Given the description of an element on the screen output the (x, y) to click on. 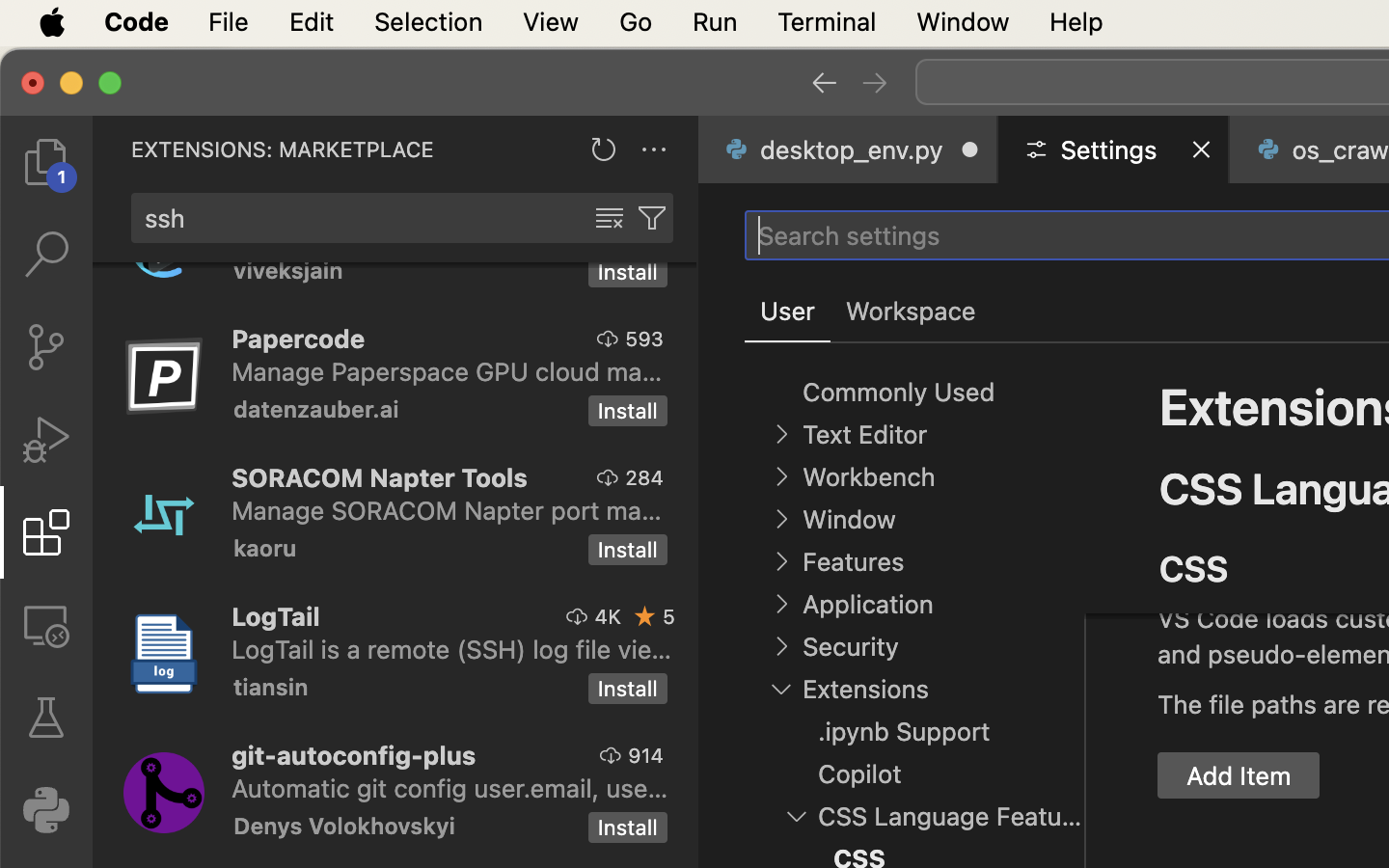
4K Element type: AXStaticText (607, 615)
